Given the description of an element on the screen output the (x, y) to click on. 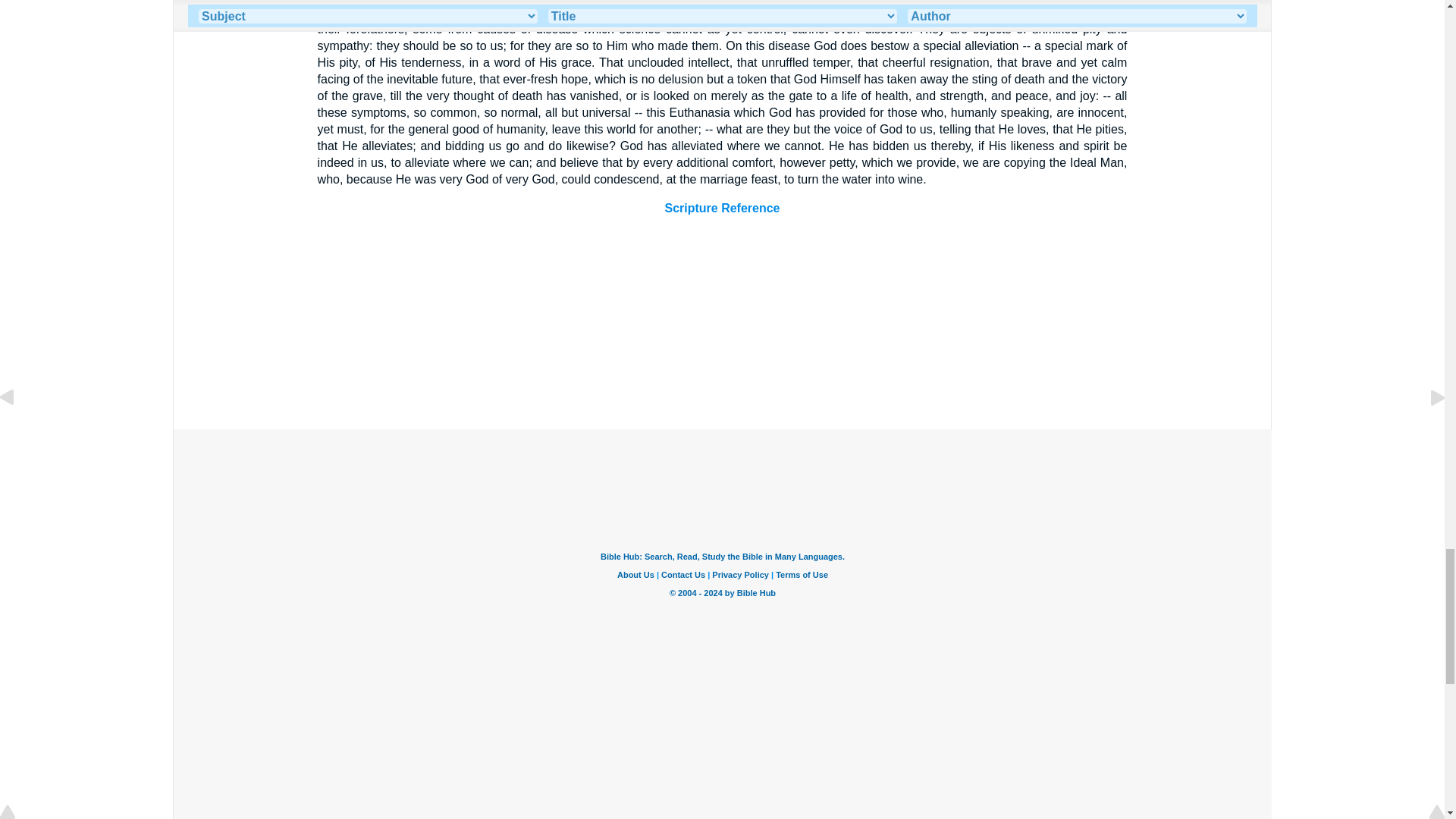
Scripture Reference (720, 207)
